Given the description of an element on the screen output the (x, y) to click on. 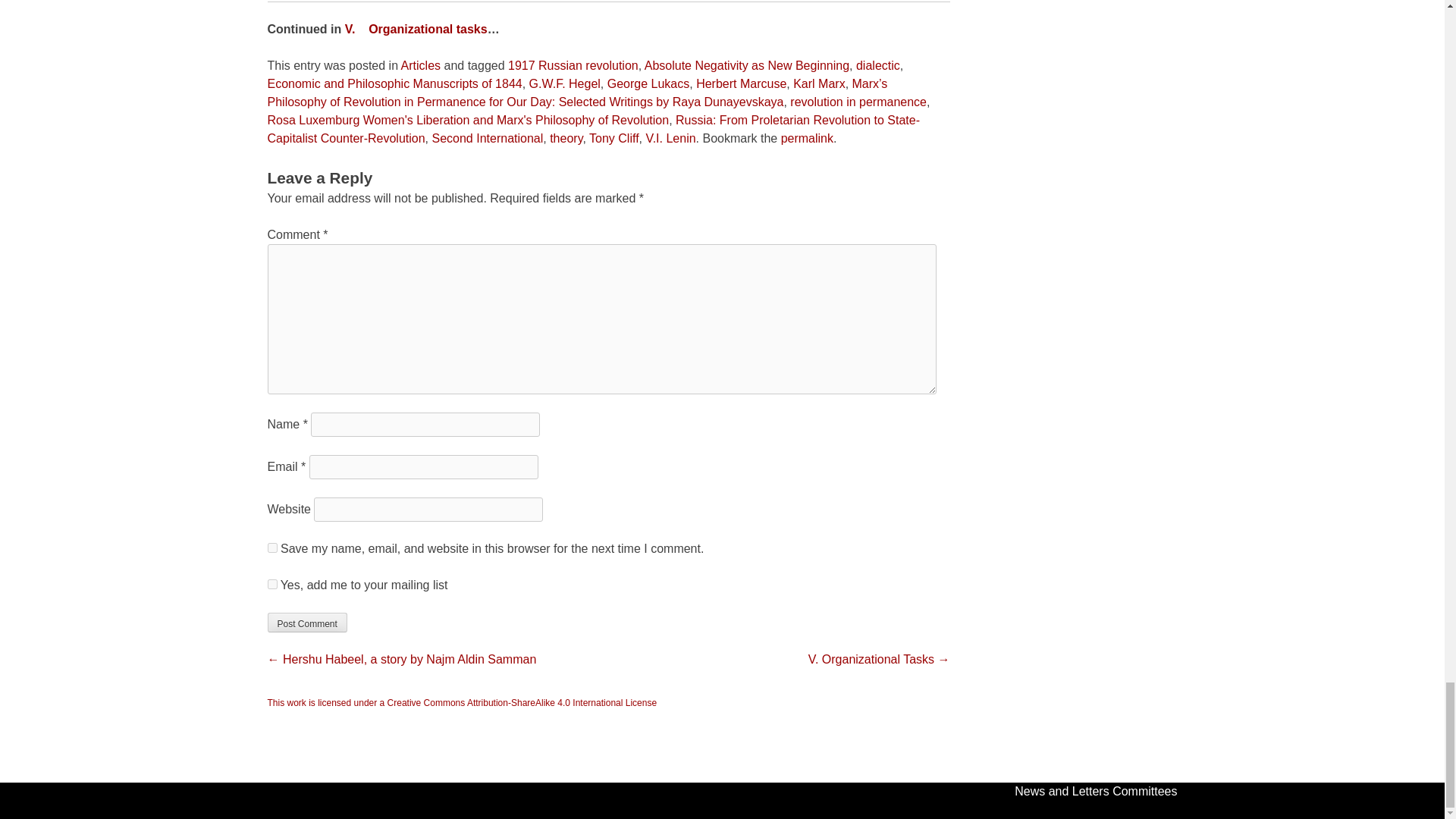
1 (271, 583)
Post Comment (306, 622)
yes (271, 547)
